Given the description of an element on the screen output the (x, y) to click on. 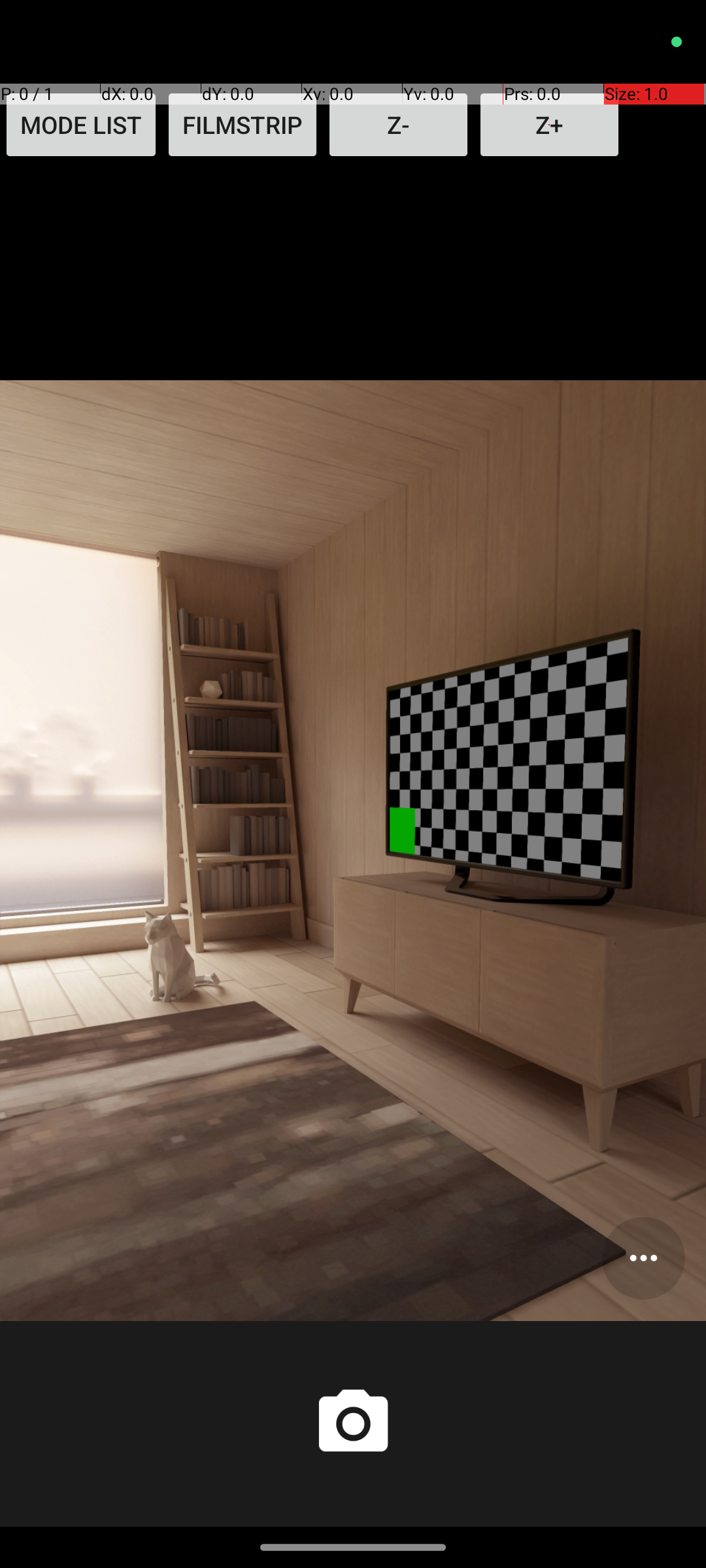
Options Element type: android.widget.LinearLayout (643, 1258)
Shutter Element type: android.widget.ImageView (353, 1423)
MODE LIST Element type: android.widget.Button (81, 124)
FILMSTRIP Element type: android.widget.Button (242, 124)
Z- Element type: android.widget.Button (397, 124)
Z+ Element type: android.widget.Button (548, 124)
